Given the description of an element on the screen output the (x, y) to click on. 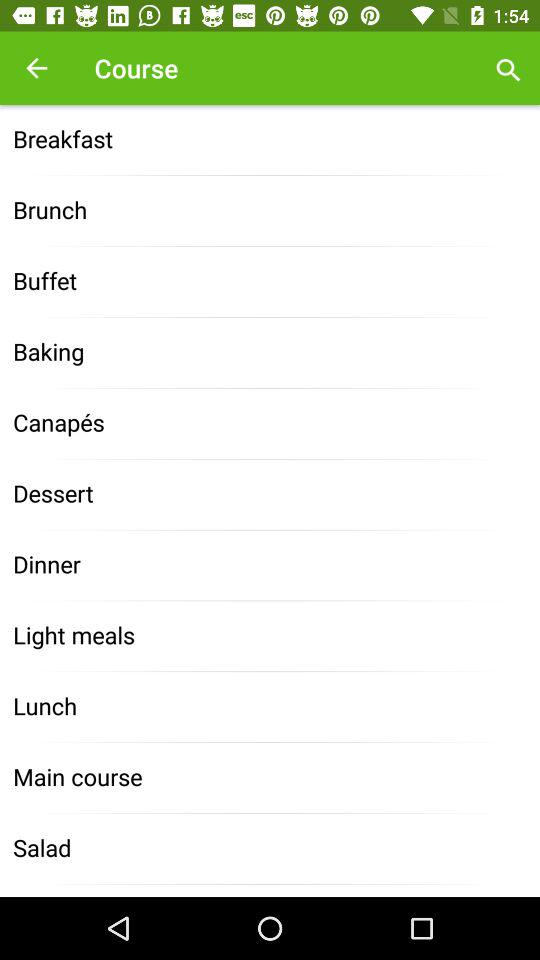
turn off the item above breakfast item (36, 68)
